Given the description of an element on the screen output the (x, y) to click on. 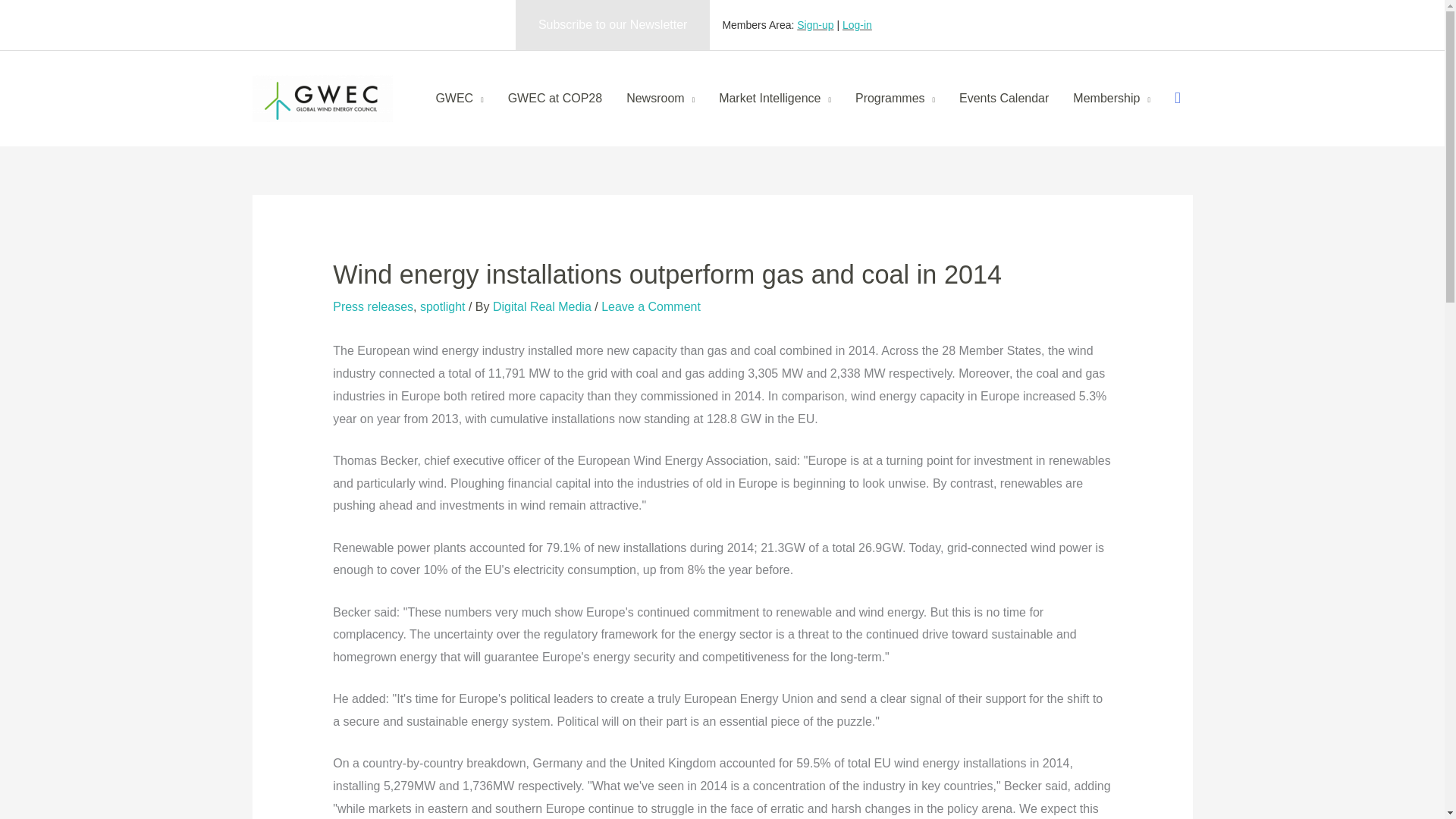
Sign-up (814, 24)
Subscribe to our Newsletter (612, 24)
Market Intelligence (774, 98)
Log-in (857, 24)
GWEC (459, 98)
Newsroom (660, 98)
GWEC at COP28 (555, 98)
View all posts by Digital Real Media (543, 306)
